Given the description of an element on the screen output the (x, y) to click on. 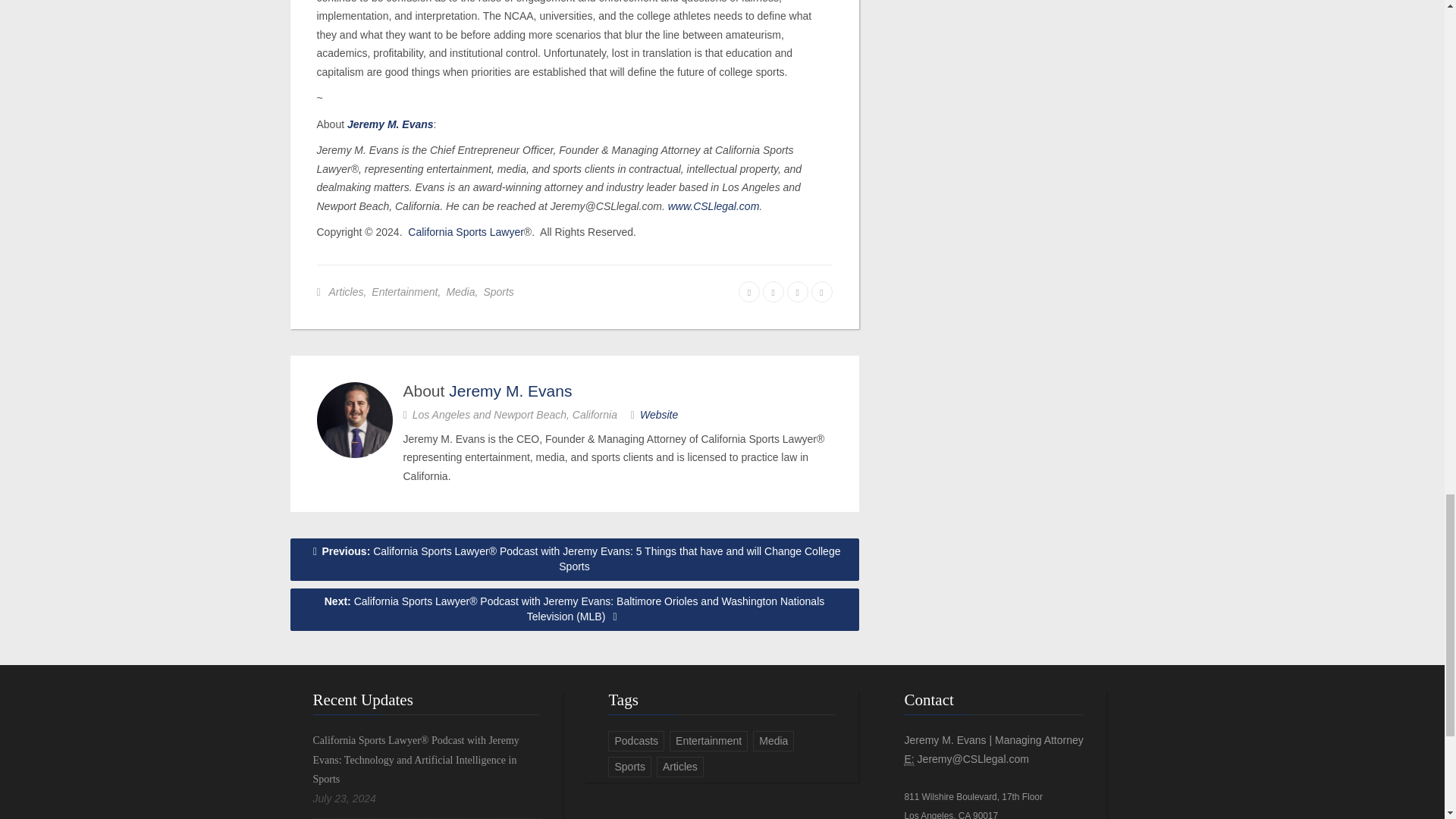
California Sports Lawyer (465, 232)
Media (459, 291)
Jeremy M. Evans (510, 390)
Website (659, 414)
Articles (346, 291)
Jeremy M. Evans (390, 123)
Entertainment (404, 291)
www.CSLlegal.com (714, 205)
Sports (498, 291)
